Given the description of an element on the screen output the (x, y) to click on. 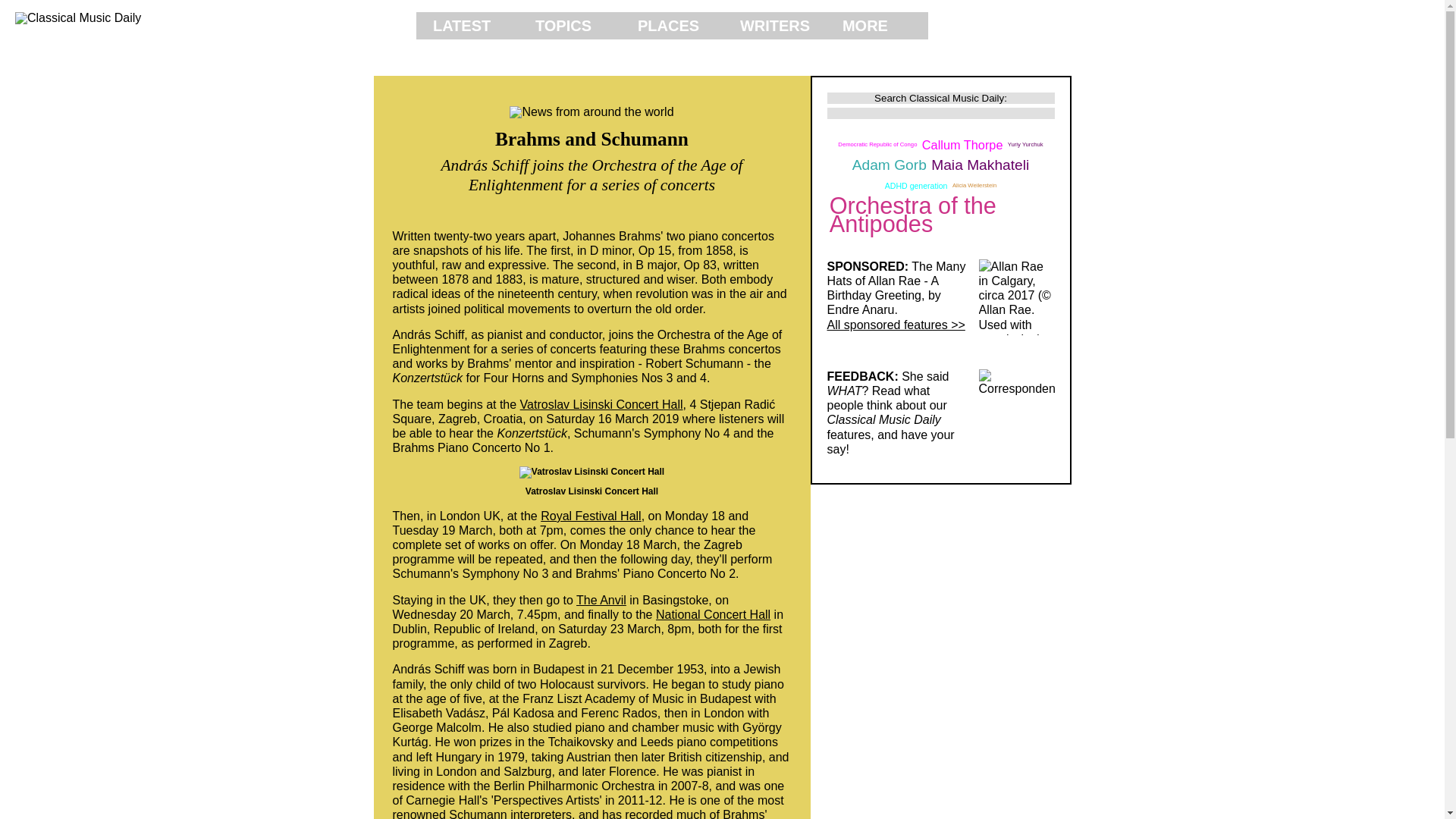
LATEST (467, 25)
TOPICS (569, 25)
Classical Music Daily (207, 18)
Search Classical Music Daily: (940, 98)
PLACES (672, 25)
